Given the description of an element on the screen output the (x, y) to click on. 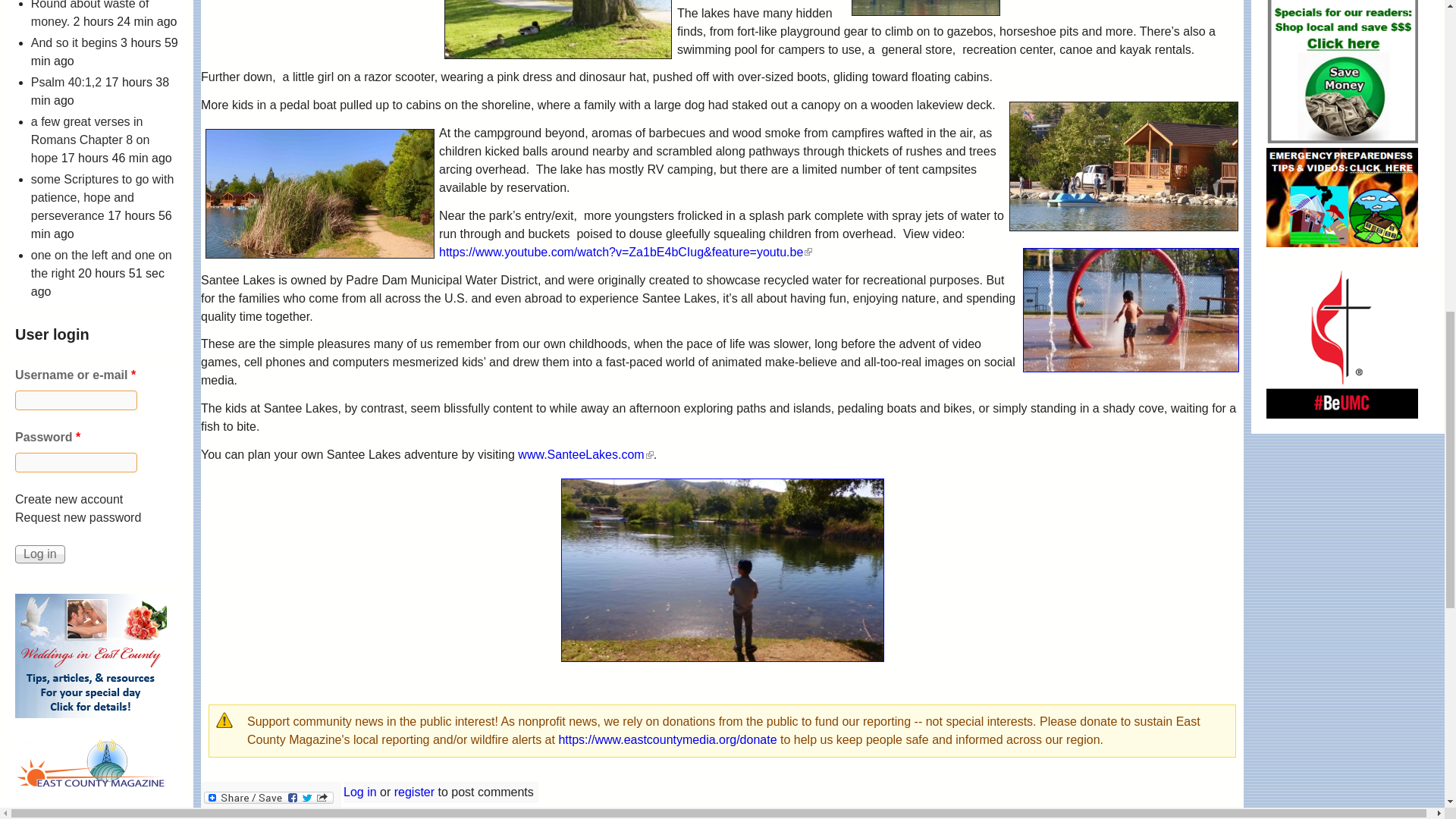
Log in (39, 554)
